Given the description of an element on the screen output the (x, y) to click on. 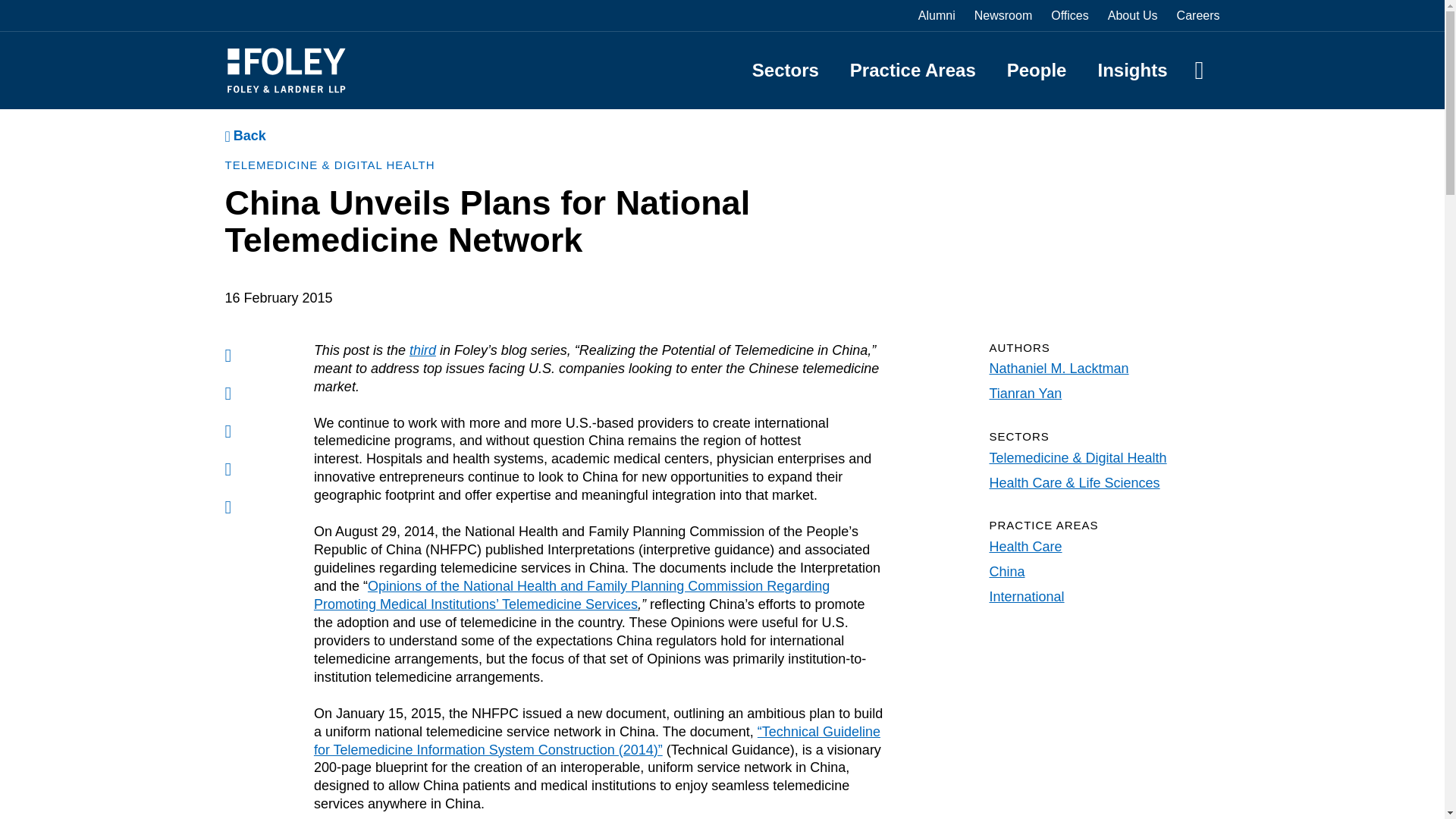
Sectors (785, 70)
Careers (1198, 15)
Nathaniel M. Lacktman (1058, 368)
Back (244, 136)
About Us (1132, 15)
third (422, 350)
Newsroom (1003, 15)
Offices (1070, 15)
Tianran Yan (1024, 393)
Insights (1132, 70)
